Given the description of an element on the screen output the (x, y) to click on. 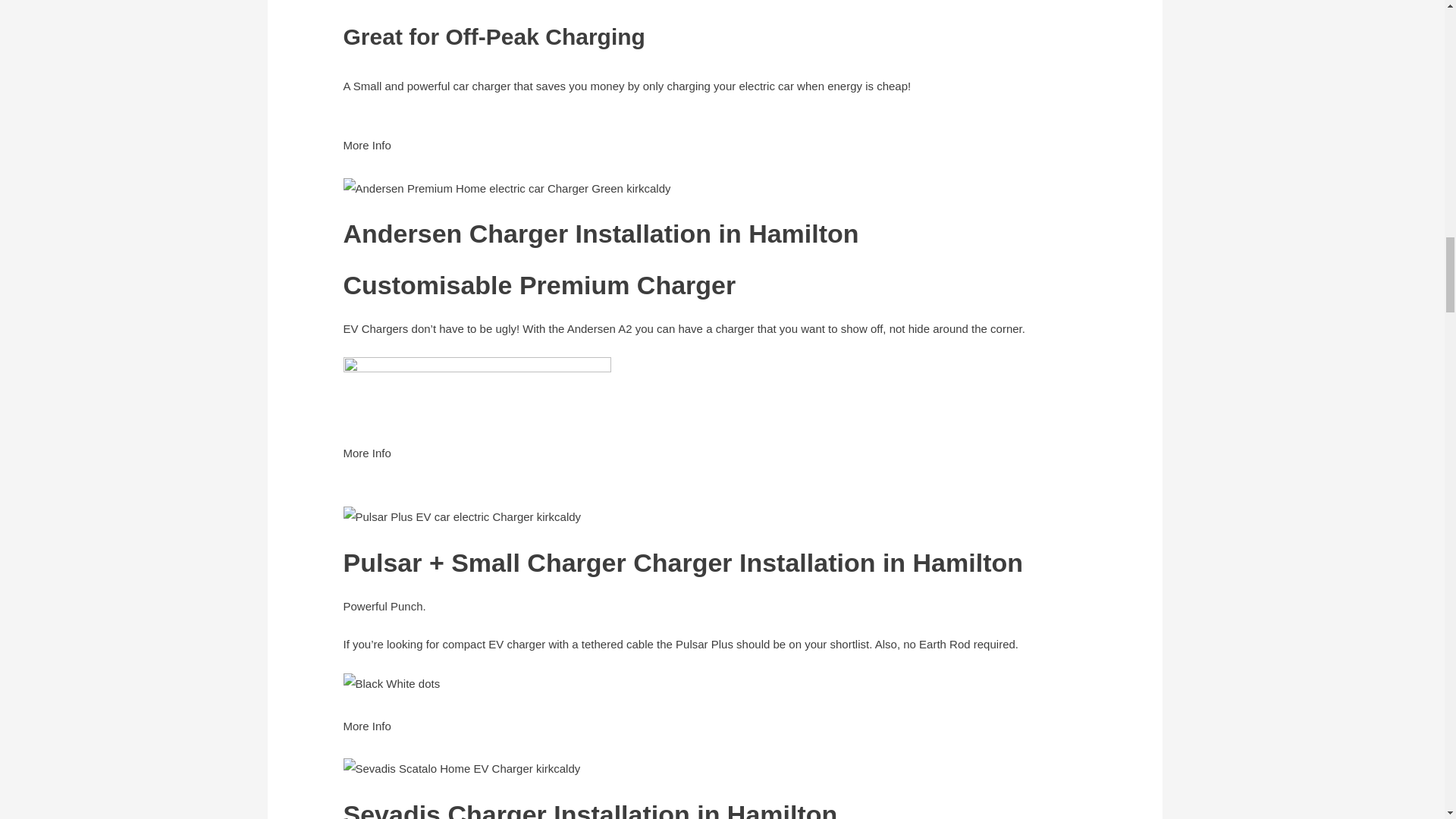
More Info (366, 736)
More Info (366, 463)
More Info (366, 155)
